Given the description of an element on the screen output the (x, y) to click on. 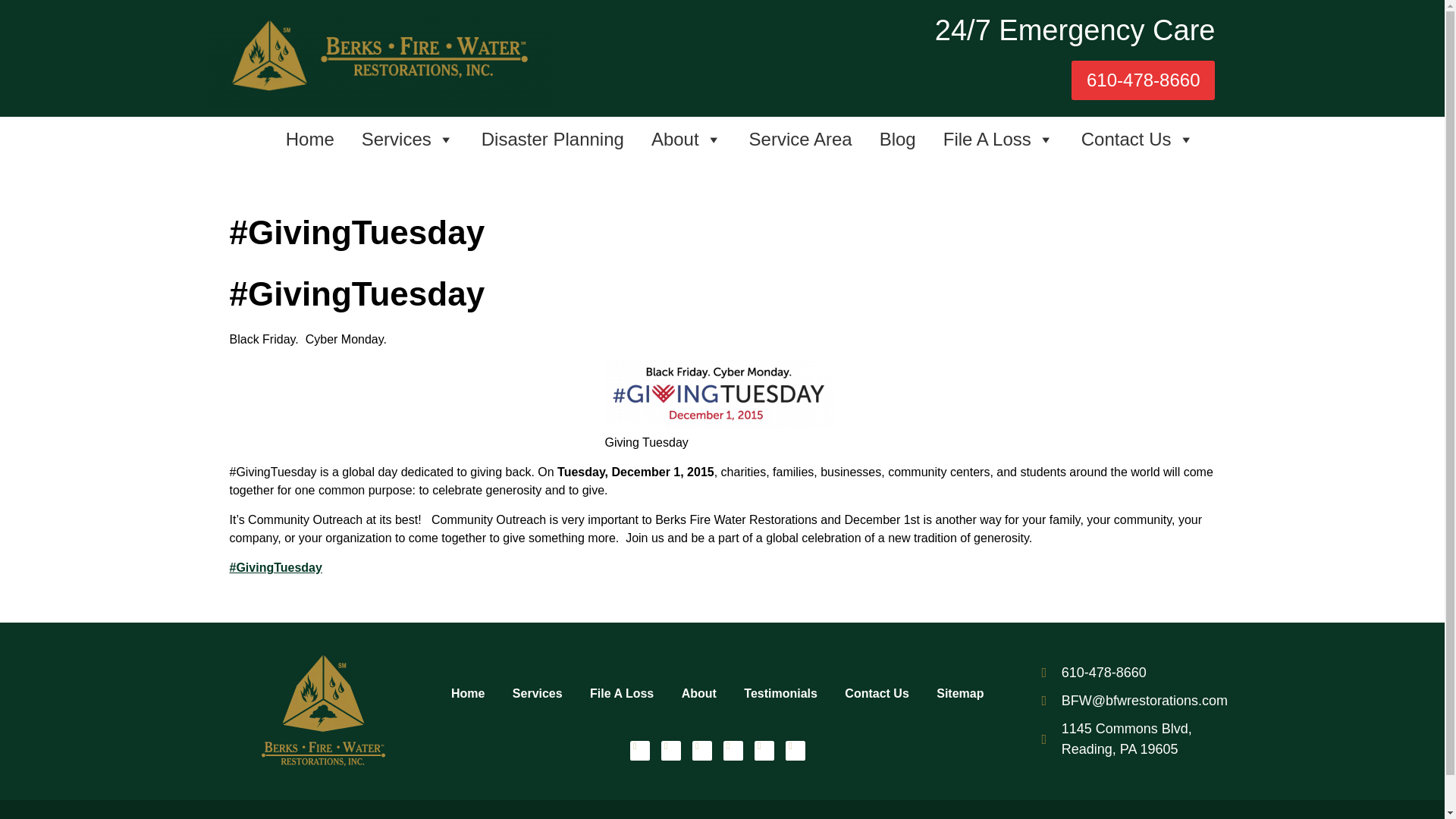
Services (407, 139)
File A Loss (998, 139)
About (686, 139)
Service Area (800, 139)
Contact Us (1137, 139)
Disaster Planning (552, 139)
Blog (898, 139)
610-478-8660 (1142, 79)
Home (309, 139)
